Given the description of an element on the screen output the (x, y) to click on. 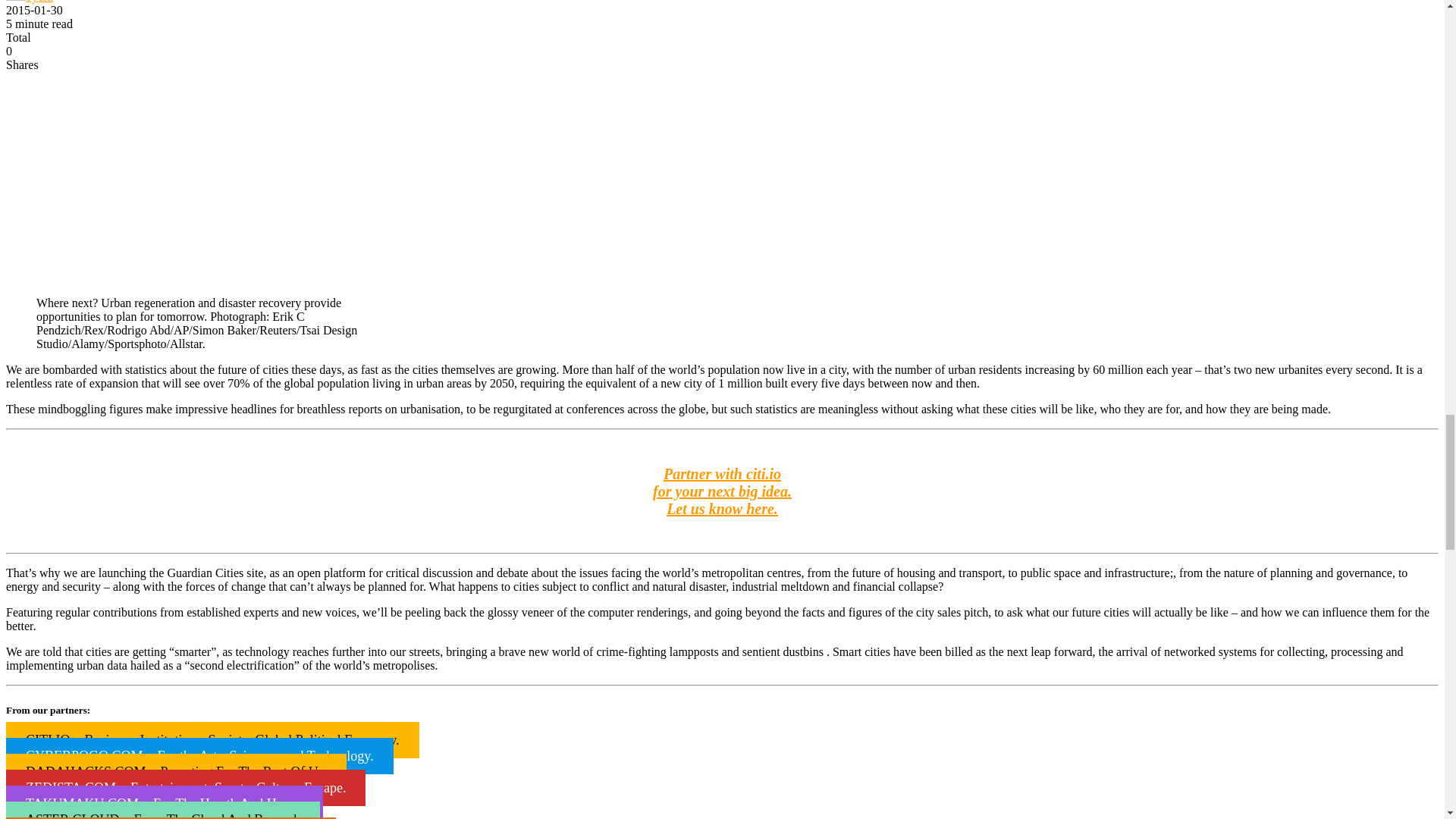
View all posts by citi (28, 1)
